Given the description of an element on the screen output the (x, y) to click on. 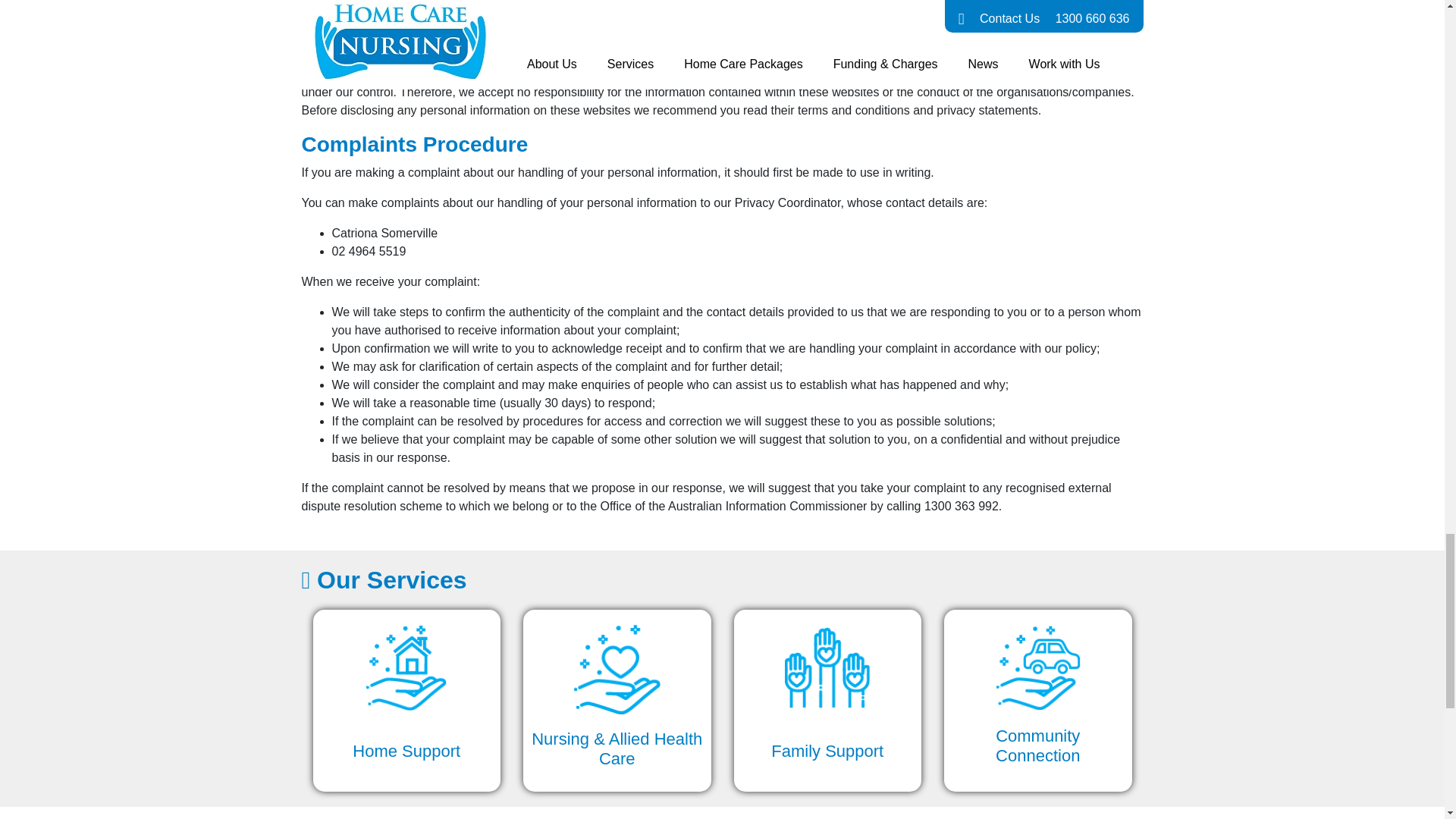
Community Connection (1037, 700)
Our Services (721, 579)
Home Support (406, 700)
Family Support (827, 700)
